Given the description of an element on the screen output the (x, y) to click on. 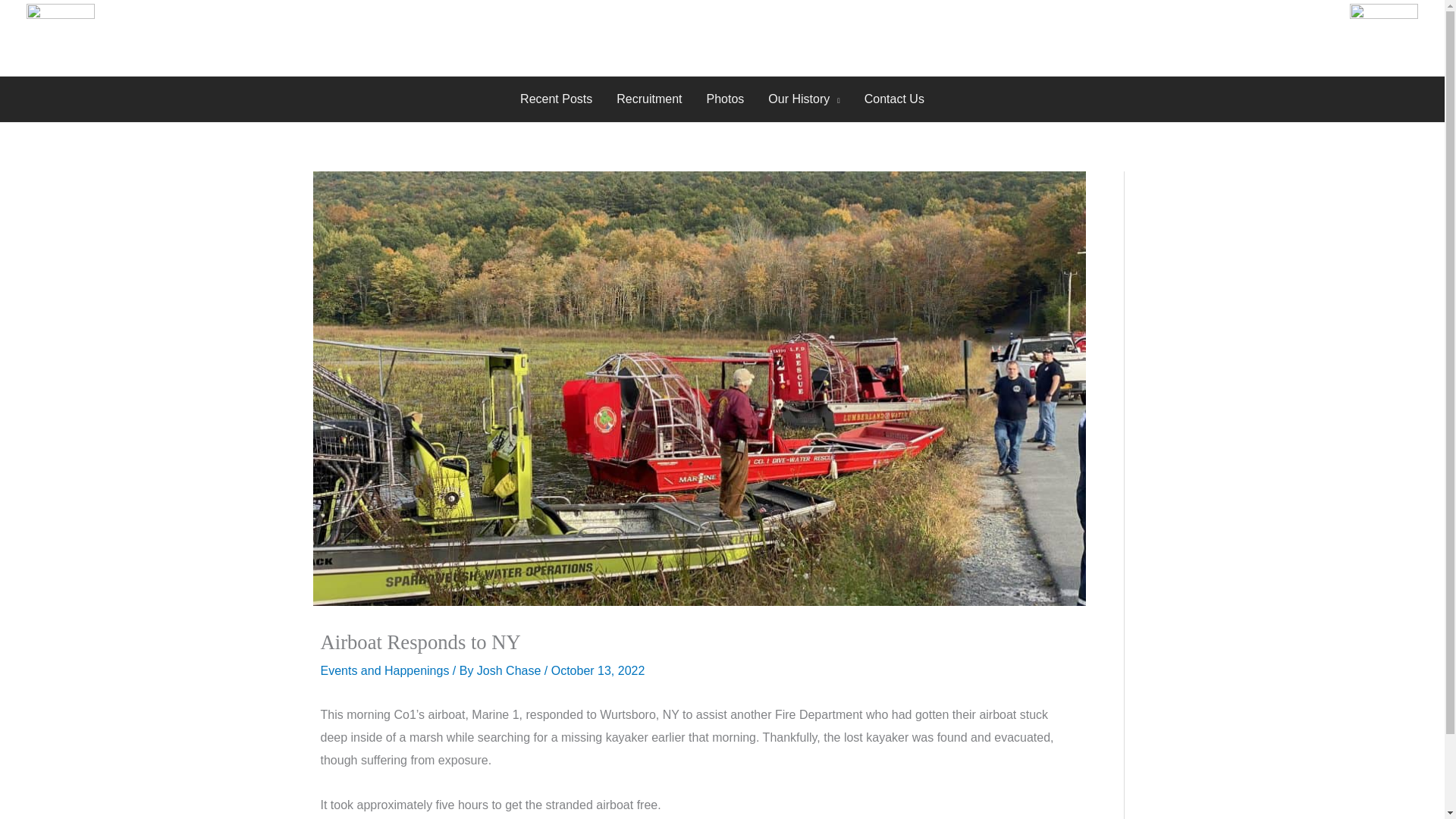
Recruitment (649, 99)
View all posts by Josh Chase (510, 670)
Recent Posts (556, 99)
Josh Chase (510, 670)
Photos (725, 99)
Events and Happenings (384, 670)
Contact Us (893, 99)
Our History (803, 99)
